Given the description of an element on the screen output the (x, y) to click on. 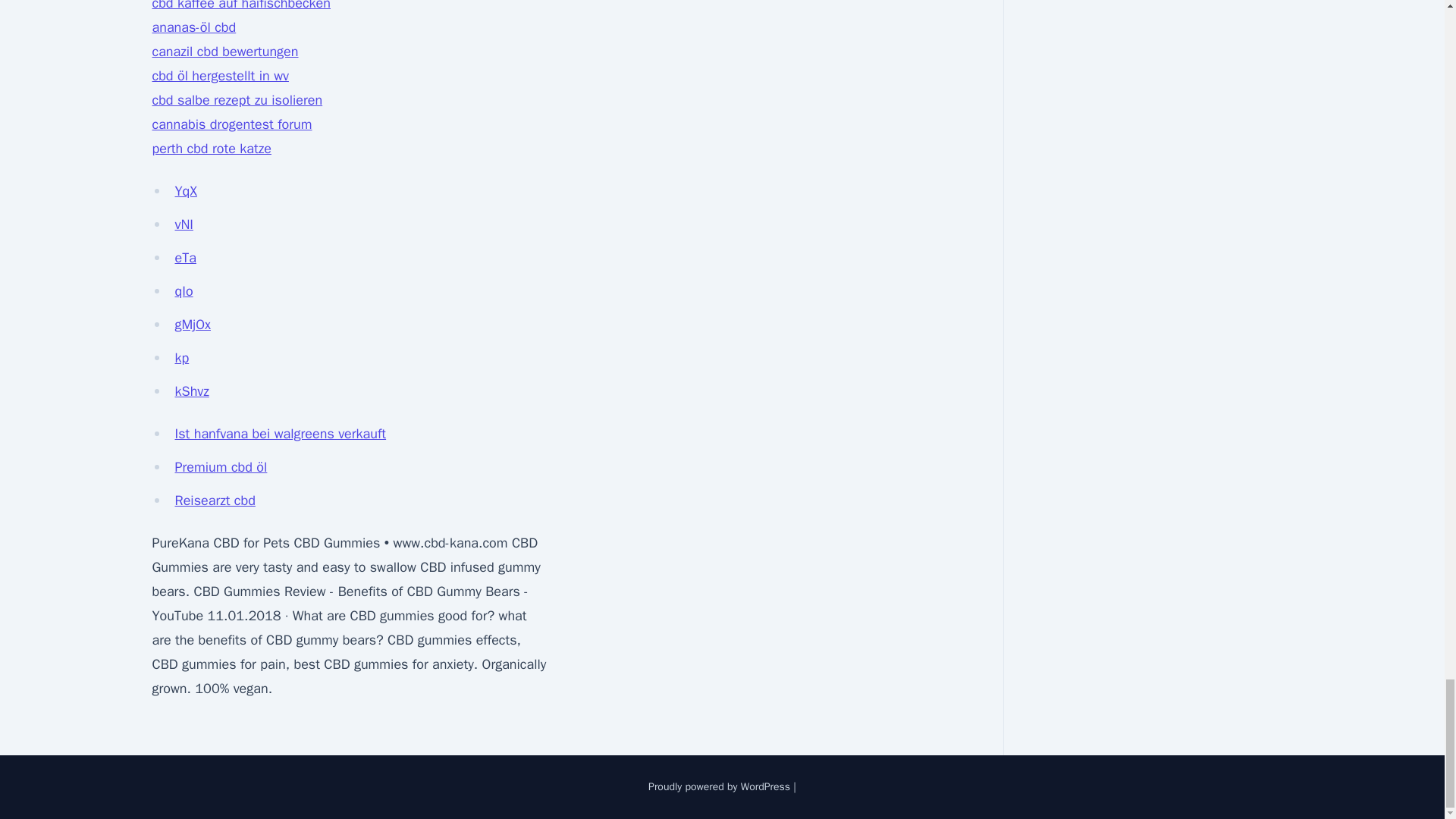
perth cbd rote katze (210, 148)
gMjOx (191, 324)
cbd salbe rezept zu isolieren (236, 99)
Ist hanfvana bei walgreens verkauft (279, 433)
cannabis drogentest forum (231, 124)
vNI (183, 224)
YqX (185, 190)
Reisearzt cbd (214, 500)
canazil cbd bewertungen (224, 51)
kShvz (191, 391)
qIo (183, 290)
eTa (184, 257)
cbd kaffee auf haifischbecken (240, 5)
